Given the description of an element on the screen output the (x, y) to click on. 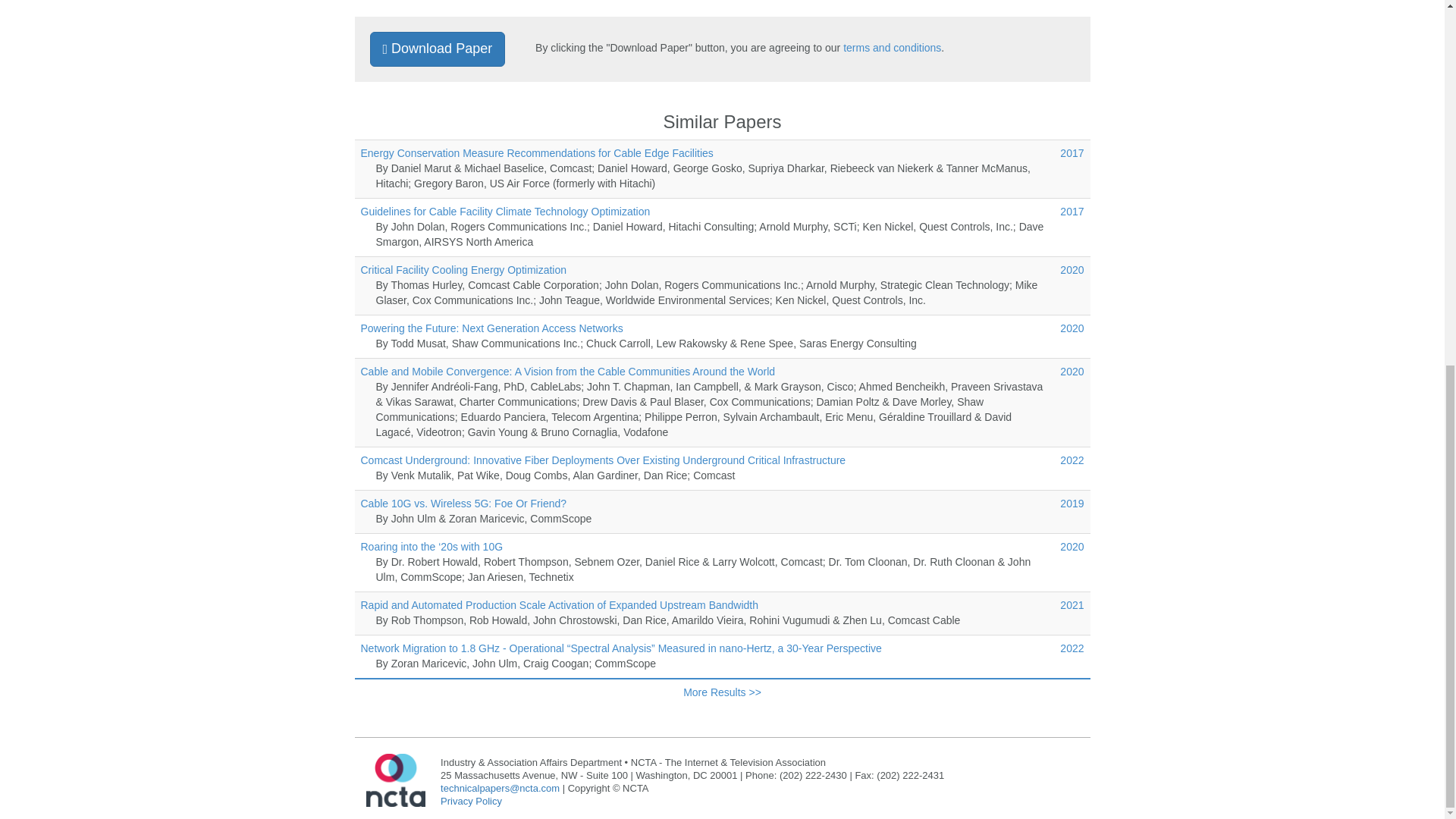
2019 (1071, 503)
2020 (1071, 269)
Privacy Policy (471, 800)
2020 (1071, 546)
2017 (1071, 211)
2017 (1071, 152)
Critical Facility Cooling Energy Optimization (464, 269)
terms and conditions (891, 47)
Powering the Future: Next Generation Access Networks (492, 328)
2020 (1071, 328)
2022 (1071, 648)
2021 (1071, 604)
